Given the description of an element on the screen output the (x, y) to click on. 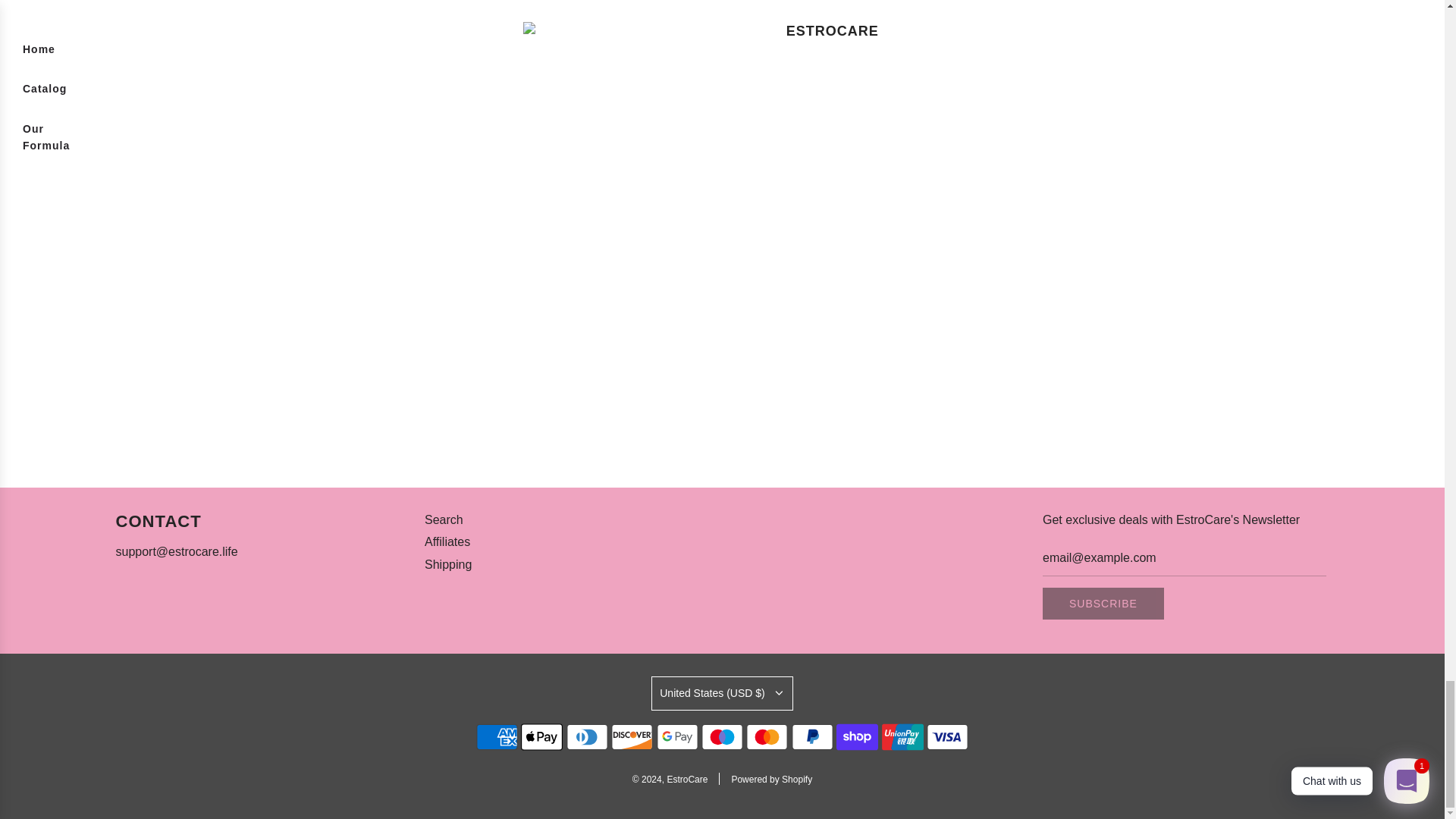
American Express (497, 736)
Union Pay (902, 736)
Mastercard (766, 736)
Apple Pay (541, 736)
Discover (631, 736)
PayPal (812, 736)
Google Pay (677, 736)
Shop Pay (856, 736)
Visa (947, 736)
Maestro (721, 736)
Diners Club (587, 736)
